Given the description of an element on the screen output the (x, y) to click on. 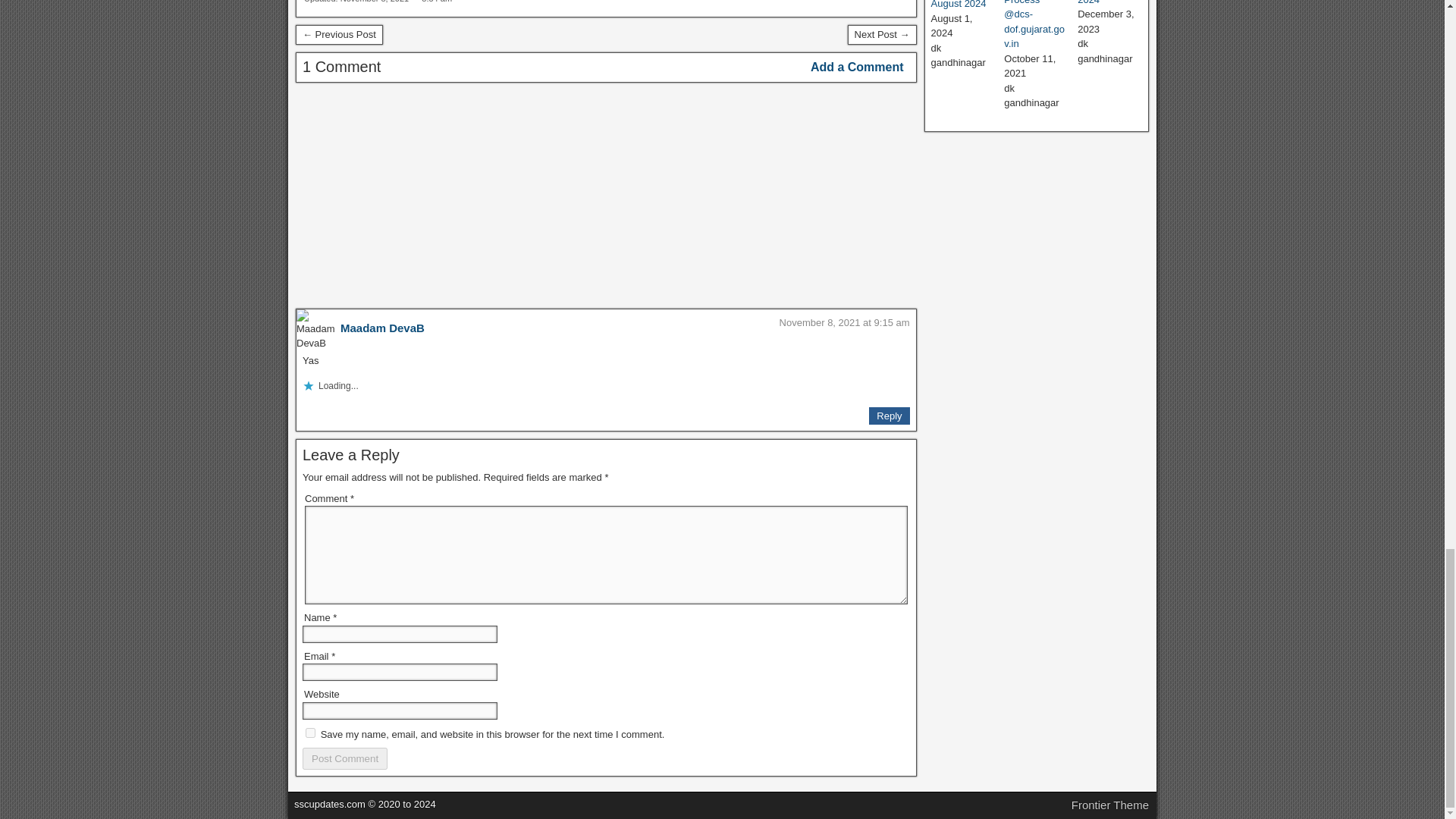
Post Comment (344, 758)
Add a Comment (857, 67)
Reply (888, 416)
yes (310, 732)
Post Comment (344, 758)
Maadam DevaB (382, 327)
November 8, 2021 at 9:15 am (844, 322)
